Given the description of an element on the screen output the (x, y) to click on. 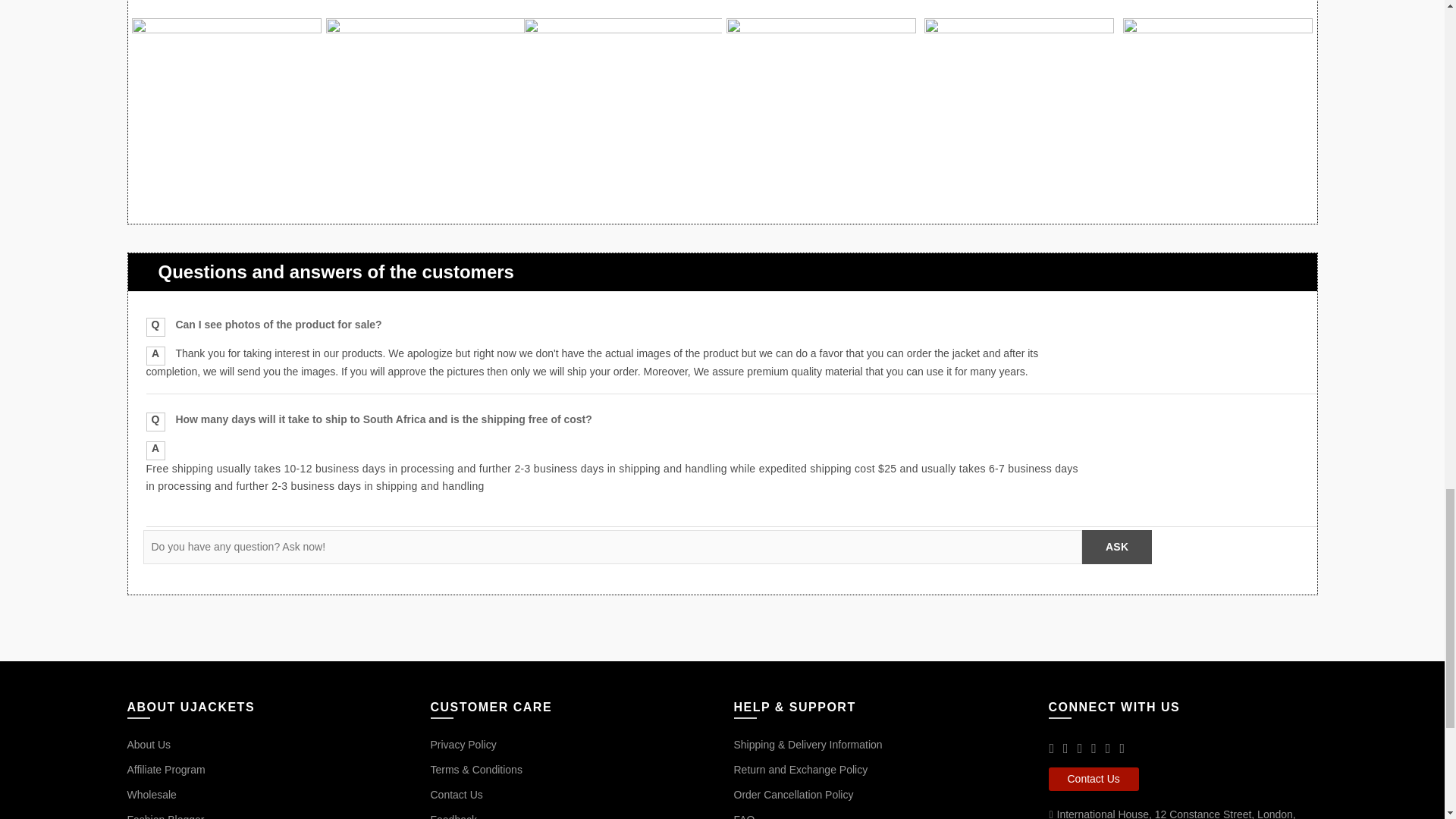
Ask (1116, 546)
Ask your question (1116, 546)
